Given the description of an element on the screen output the (x, y) to click on. 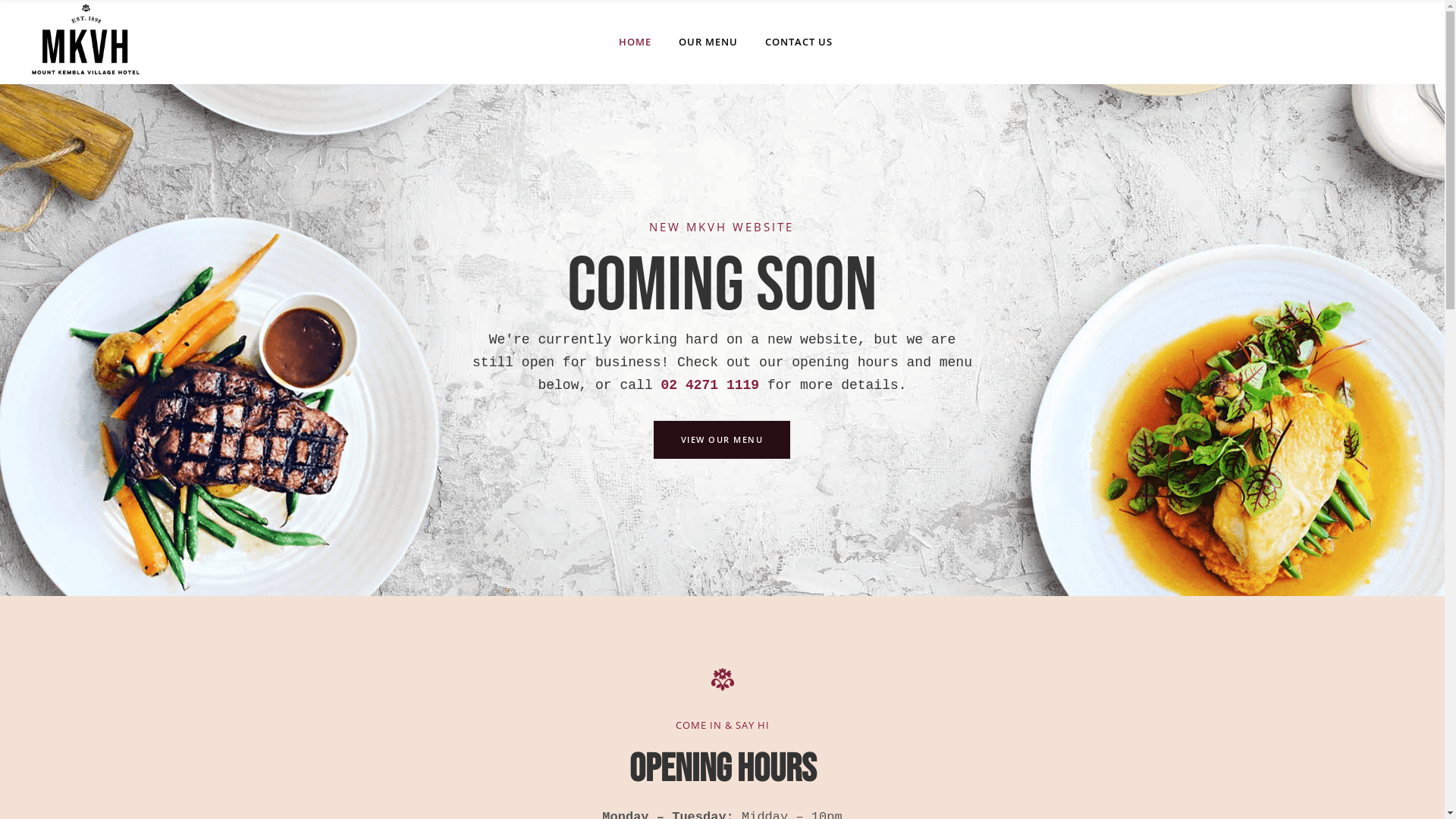
VIEW OUR MENU Element type: text (722, 439)
CONTACT US Element type: text (798, 42)
02 4271 1119 Element type: text (709, 384)
MKVH-icon-rose Element type: hover (722, 679)
HOME Element type: text (635, 42)
U Element type: text (991, 410)
OUR MENU Element type: text (708, 42)
